Given the description of an element on the screen output the (x, y) to click on. 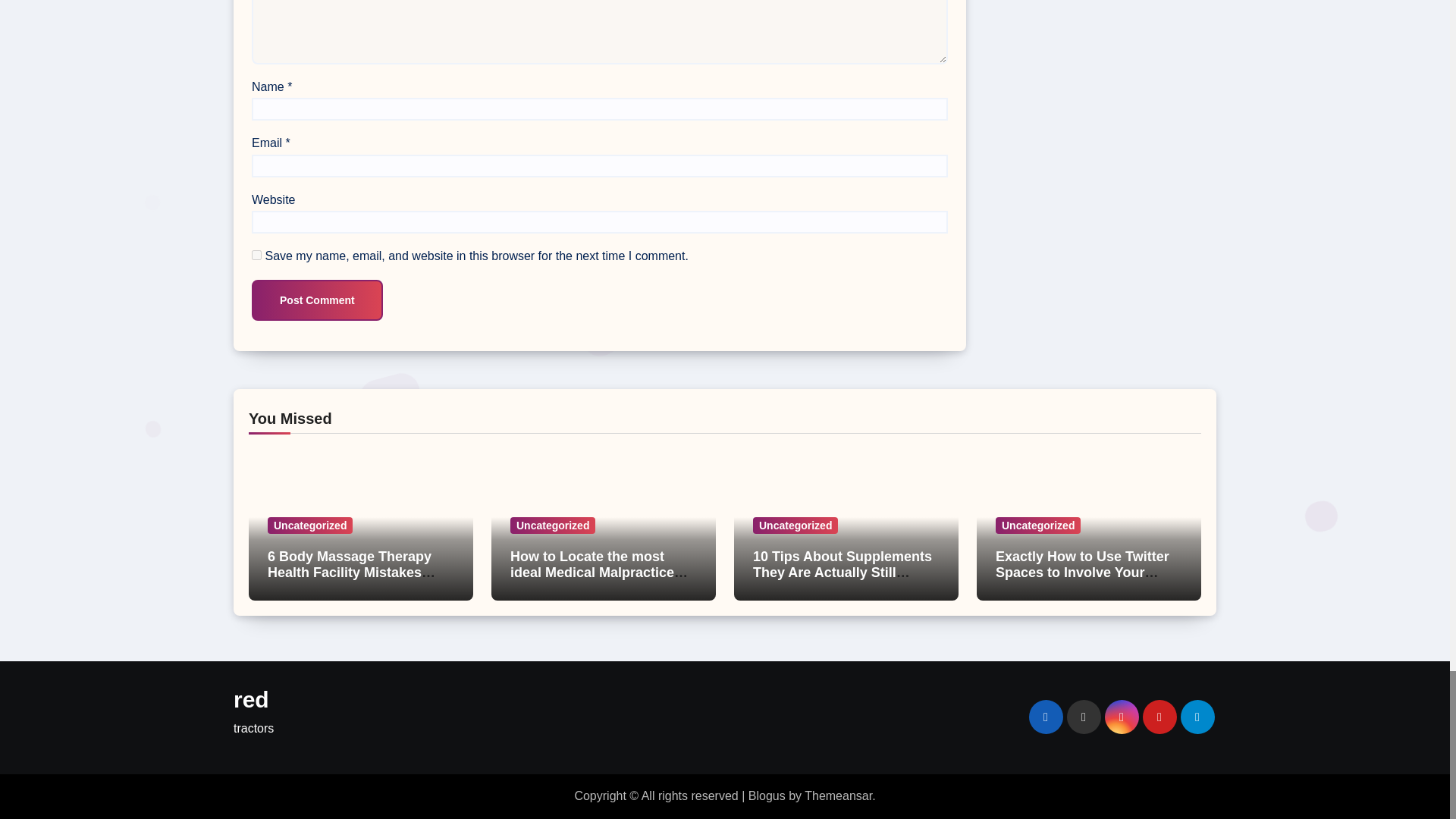
yes (256, 255)
Post Comment (316, 300)
